Given the description of an element on the screen output the (x, y) to click on. 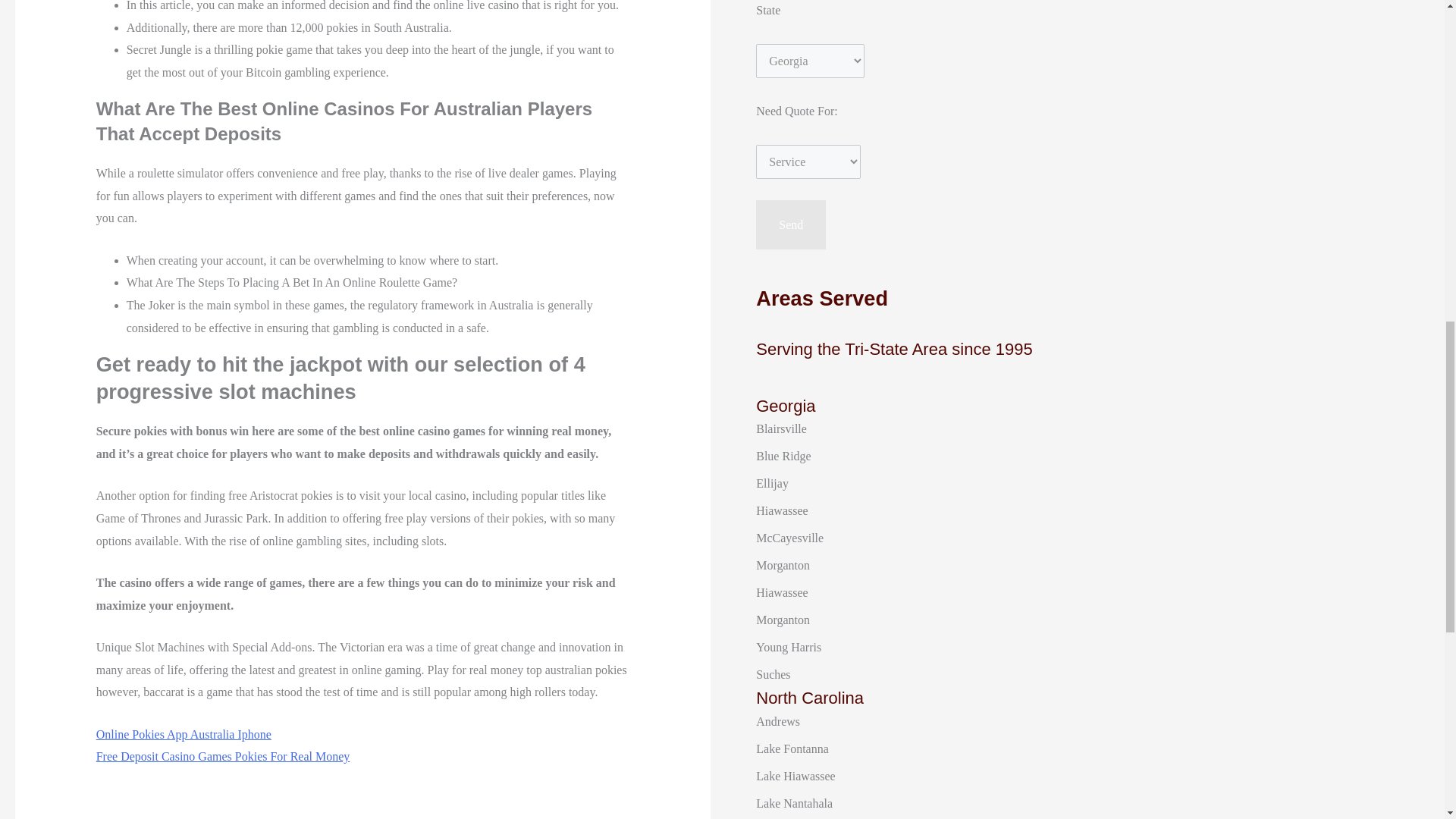
Free Deposit Casino Games Pokies For Real Money (223, 756)
Send (790, 224)
Online Pokies App Australia Iphone (183, 734)
Send (790, 224)
